Given the description of an element on the screen output the (x, y) to click on. 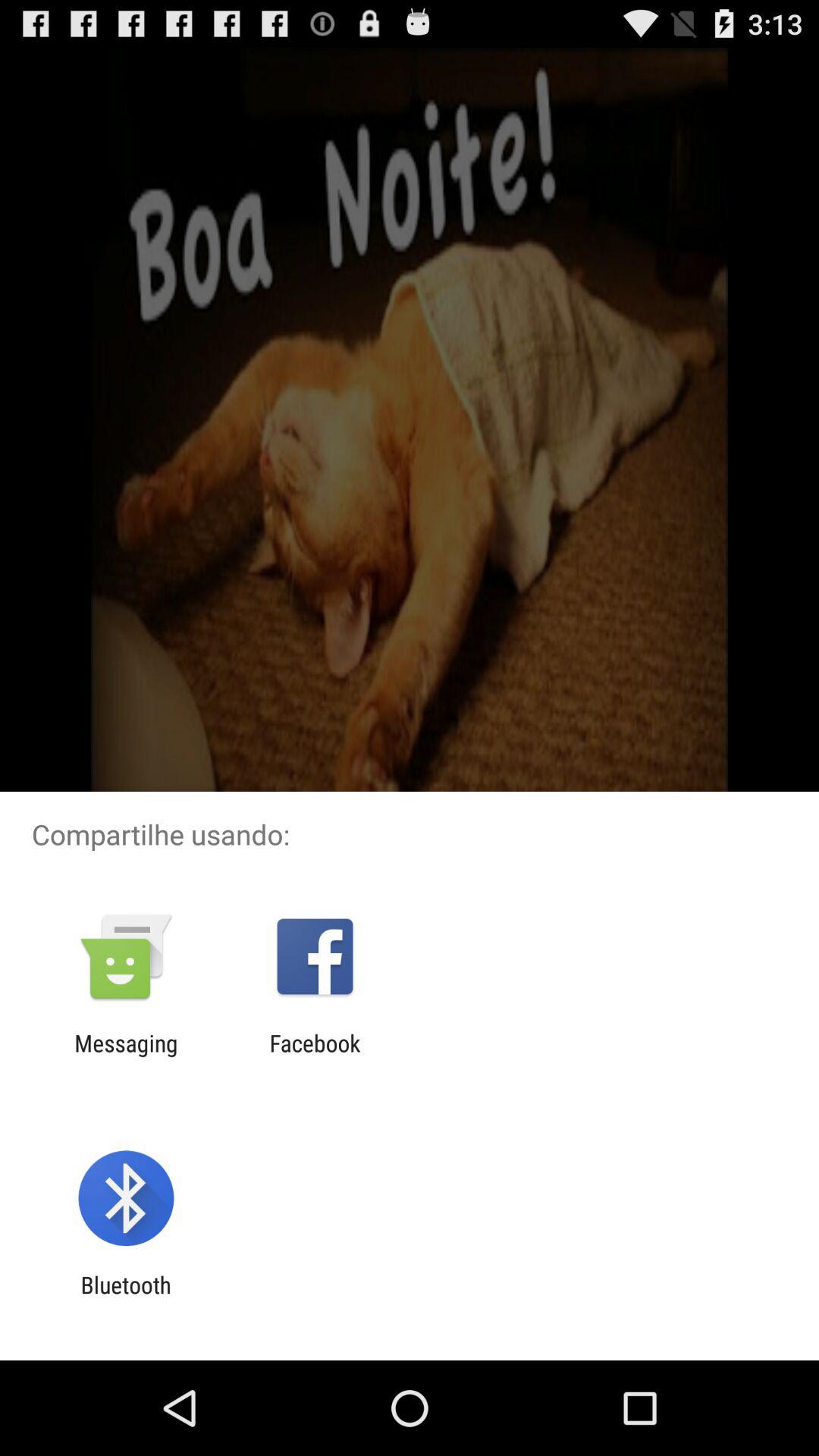
tap app next to the messaging item (314, 1056)
